Given the description of an element on the screen output the (x, y) to click on. 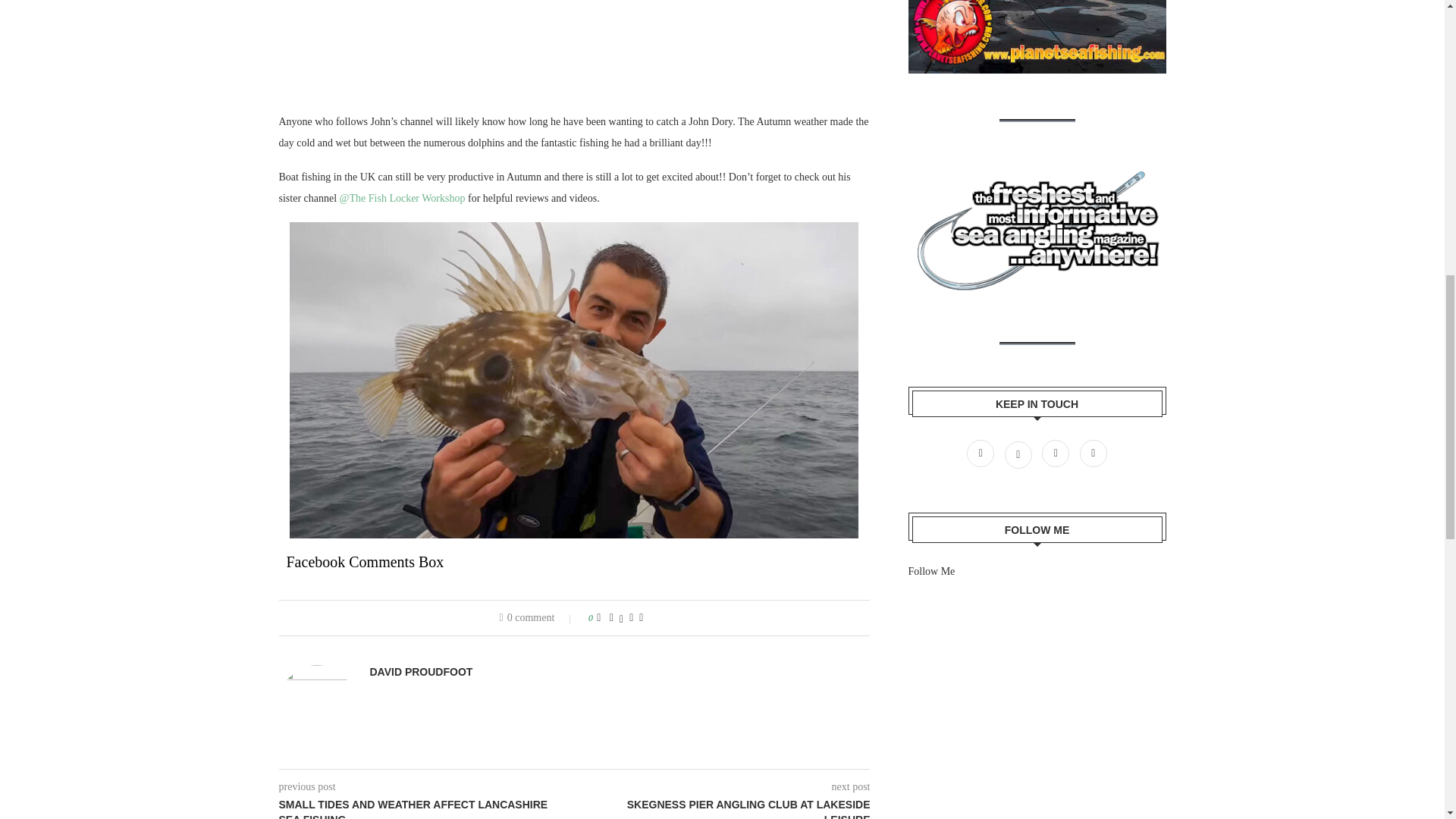
Author David Proudfoot (421, 672)
